Given the description of an element on the screen output the (x, y) to click on. 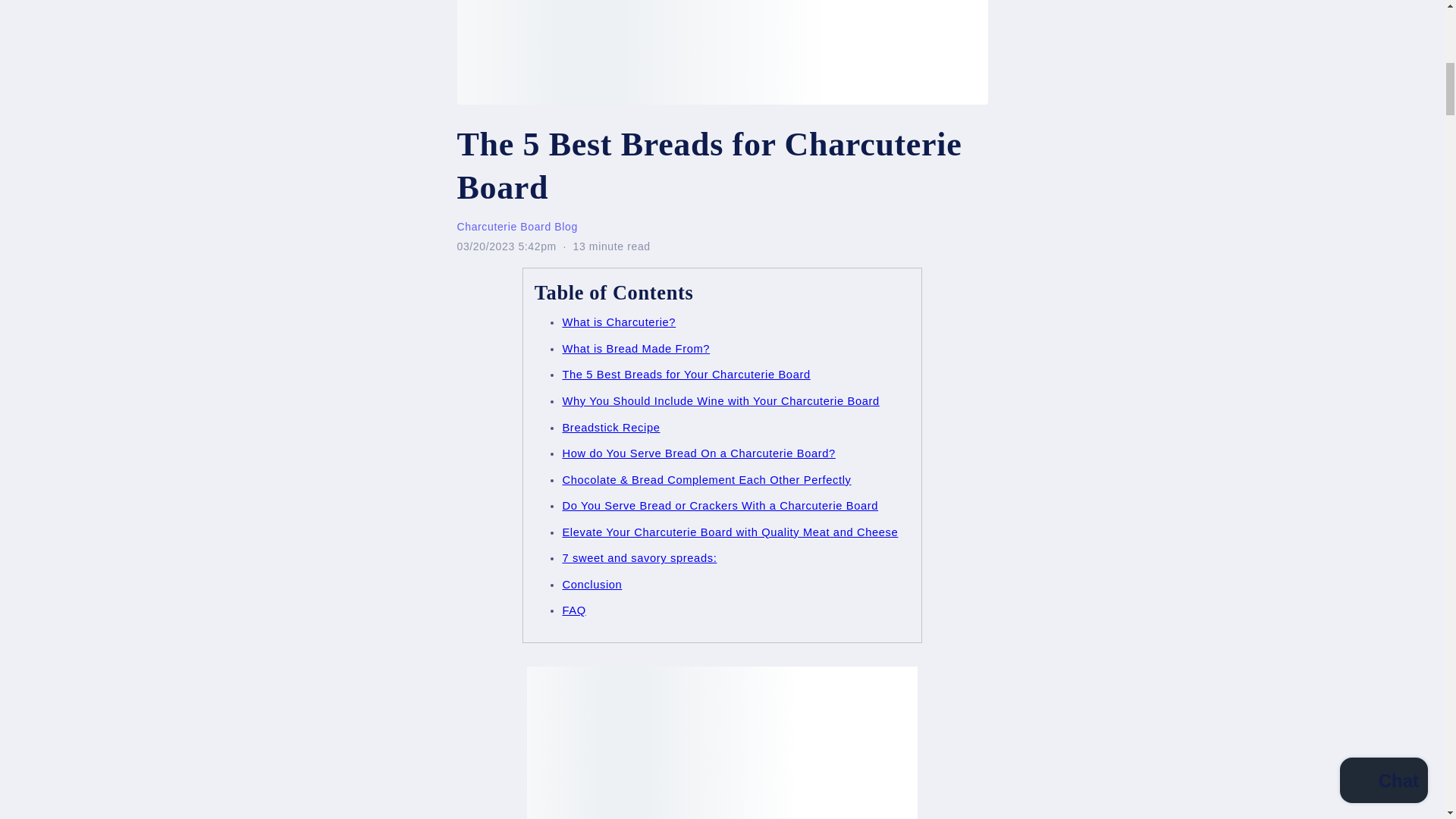
Breadstick Recipe (610, 427)
Why You Should Include Wine with Your Charcuterie Board (720, 400)
Do You Serve Bread or Crackers With a Charcuterie Board (719, 505)
How do You Serve Bread On a Charcuterie Board? (698, 453)
What is Charcuterie? (618, 322)
Charcuterie Board Blog (516, 226)
The 5 Best Breads for Your Charcuterie Board (685, 374)
What is Bread Made From? (636, 348)
